Given the description of an element on the screen output the (x, y) to click on. 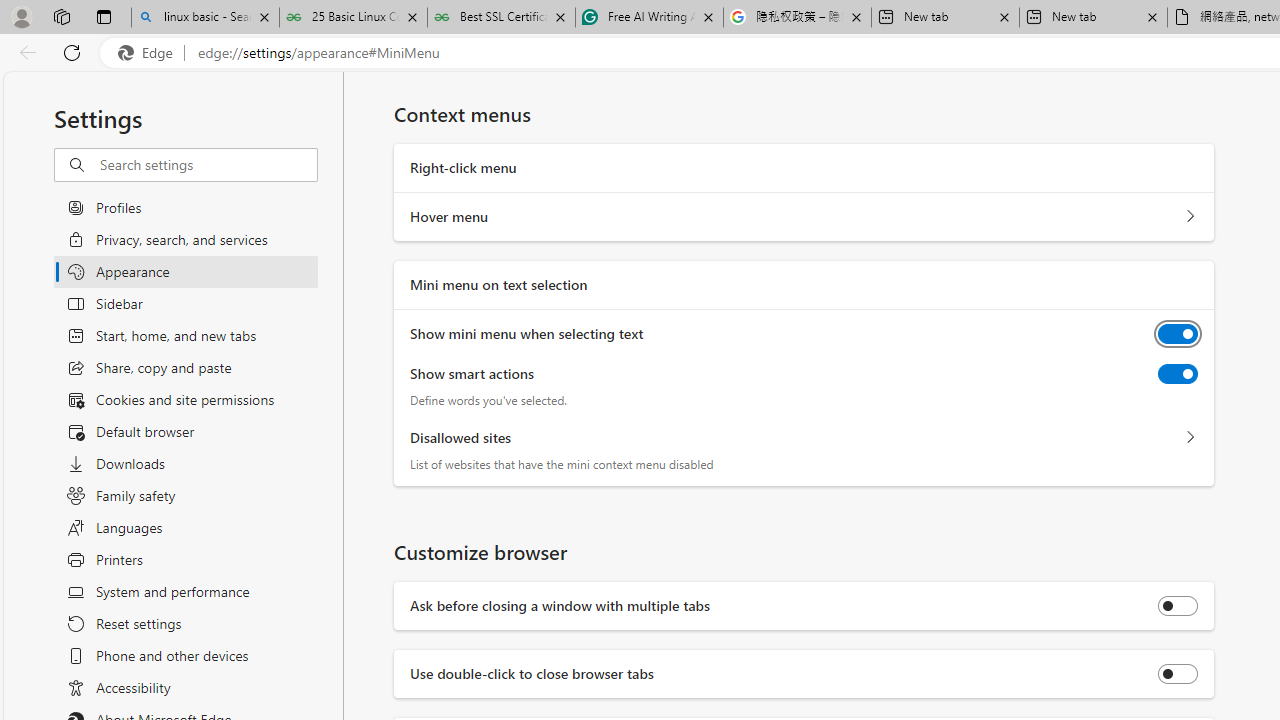
Search settings (207, 165)
Edge (150, 53)
Disallowed sites (1190, 437)
25 Basic Linux Commands For Beginners - GeeksforGeeks (353, 17)
Show smart actions (1178, 373)
